Given the description of an element on the screen output the (x, y) to click on. 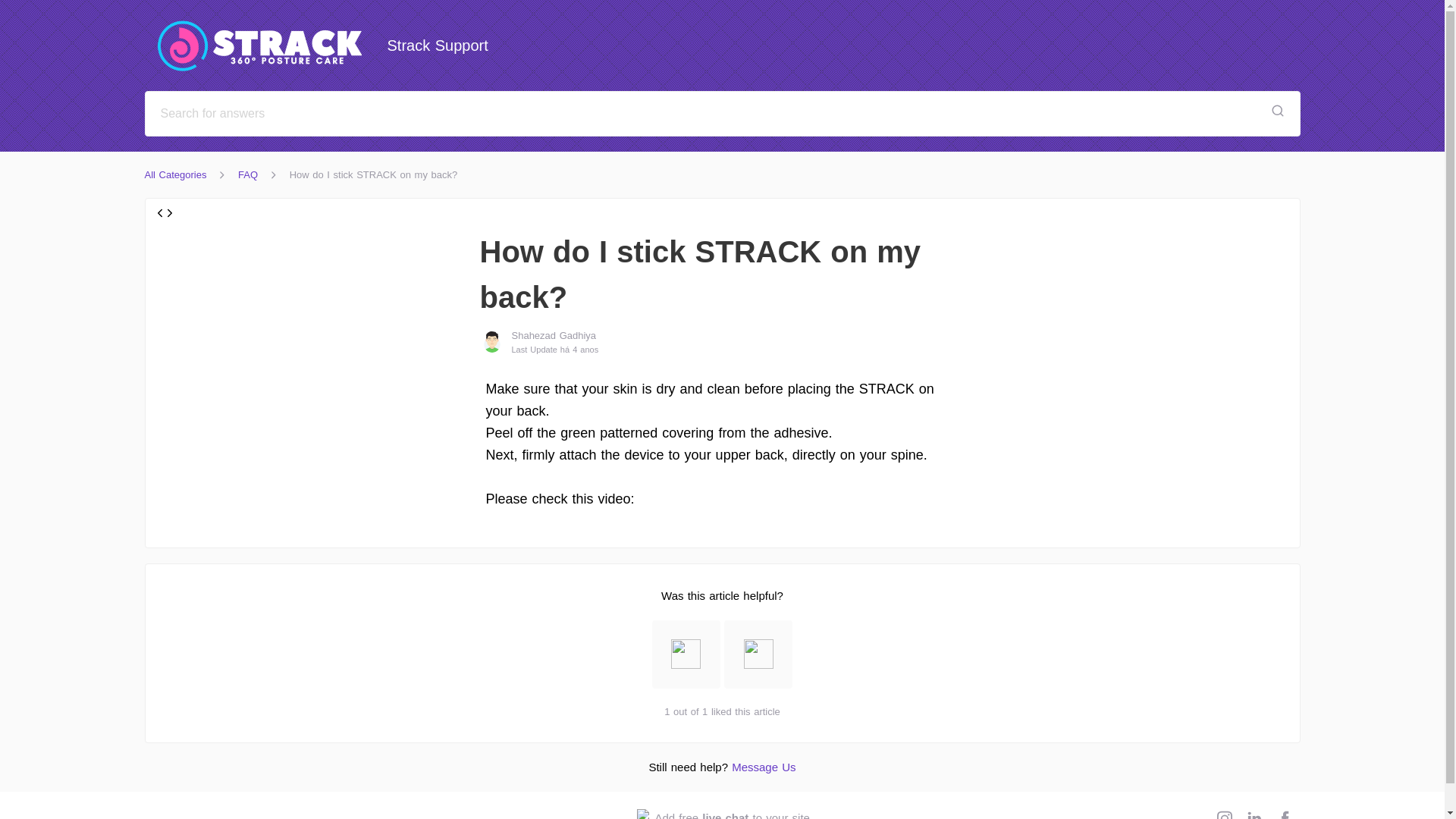
All Categories (721, 814)
Message Us (175, 174)
FAQ (763, 766)
Strack Support (247, 174)
